Given the description of an element on the screen output the (x, y) to click on. 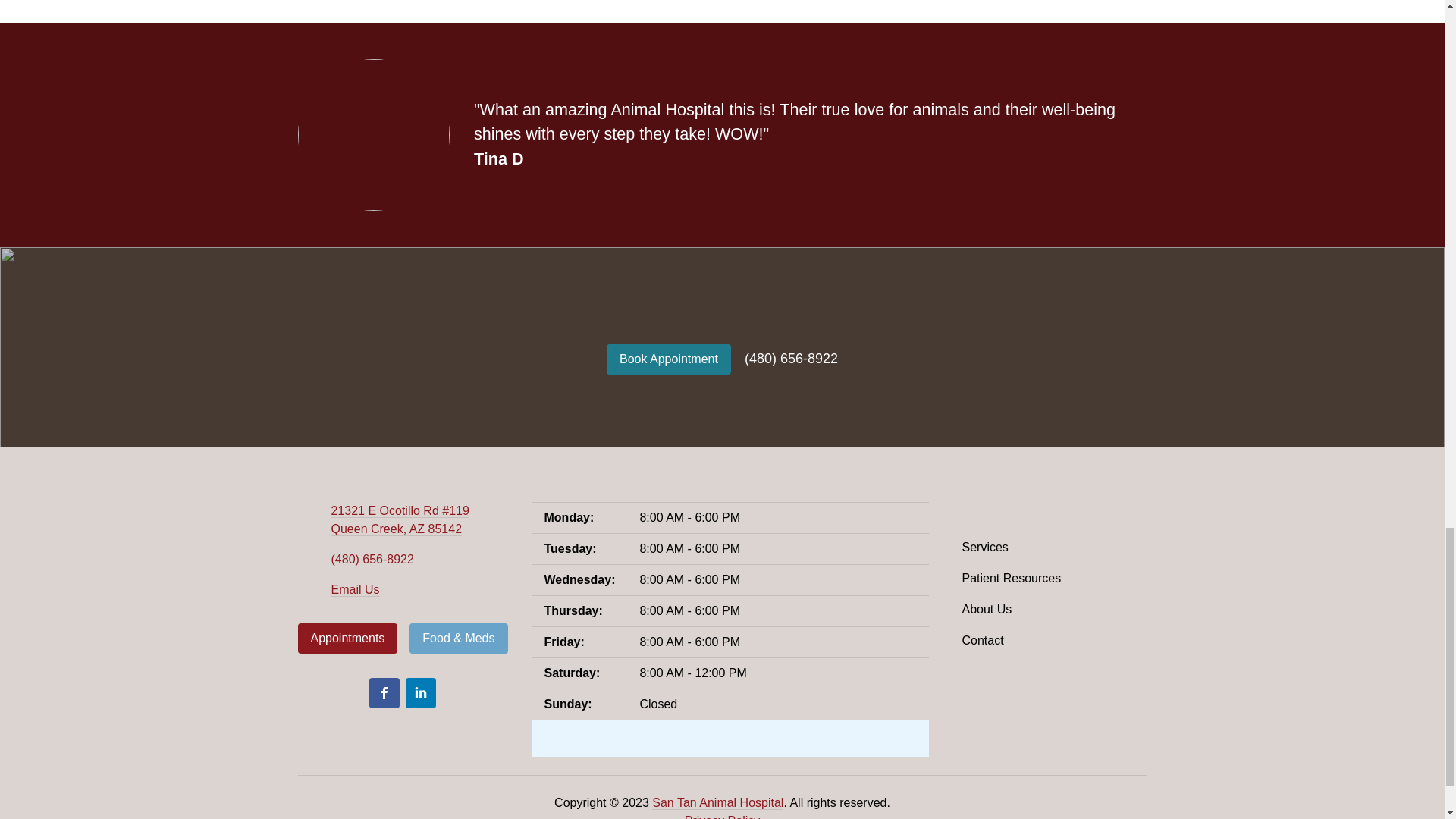
Call Us (371, 559)
Appointments (347, 638)
Facebook (383, 693)
Email Us (354, 590)
LinkedIn (420, 693)
Book Appointment (668, 358)
Open this Address on Google Maps (399, 520)
